Given the description of an element on the screen output the (x, y) to click on. 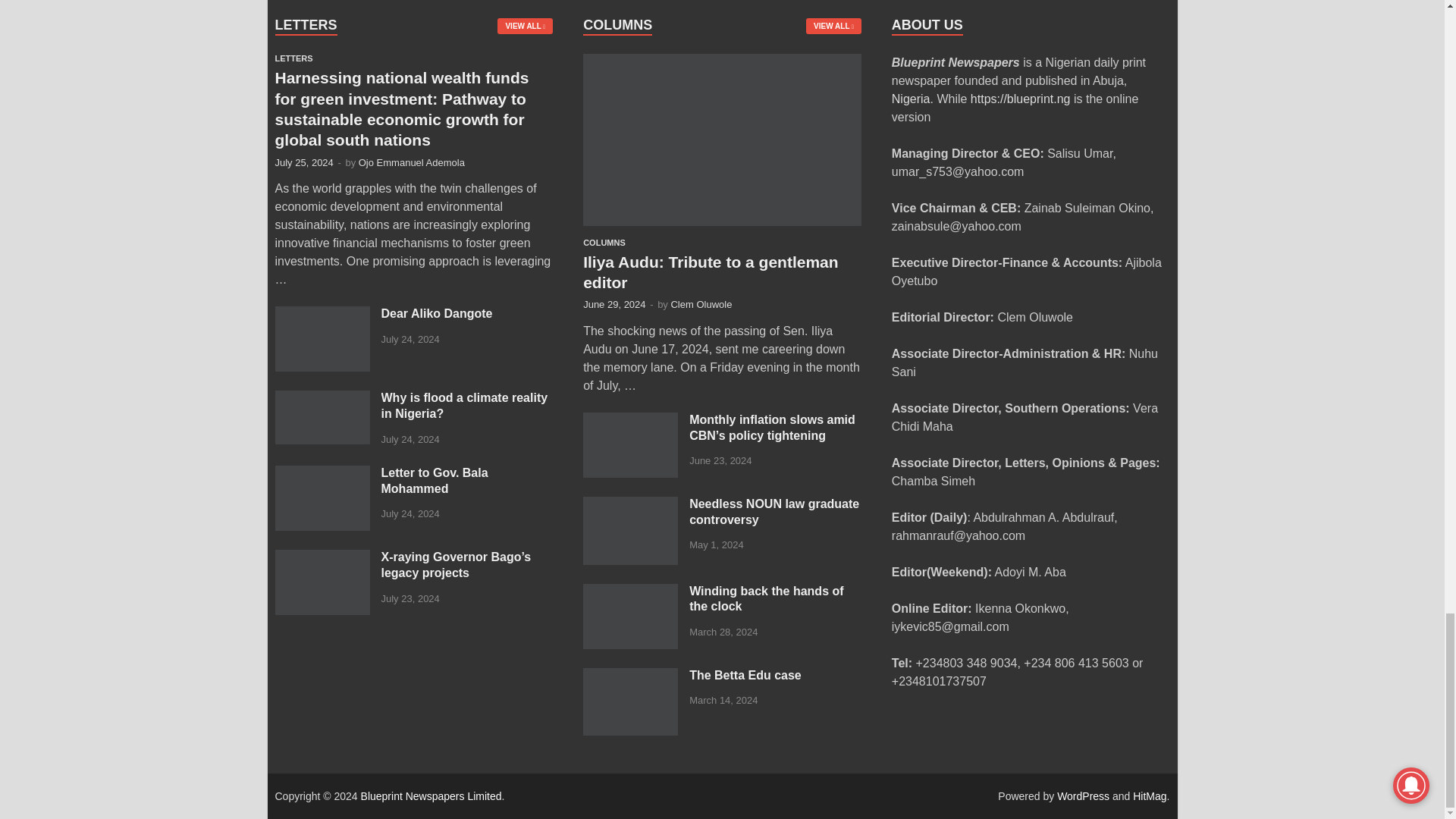
Dear Aliko Dangote (322, 314)
Needless NOUN law graduate controversy (630, 504)
Why is flood a climate reality in Nigeria? (322, 399)
Iliya Audu: Tribute to a gentleman editor (722, 62)
